Given the description of an element on the screen output the (x, y) to click on. 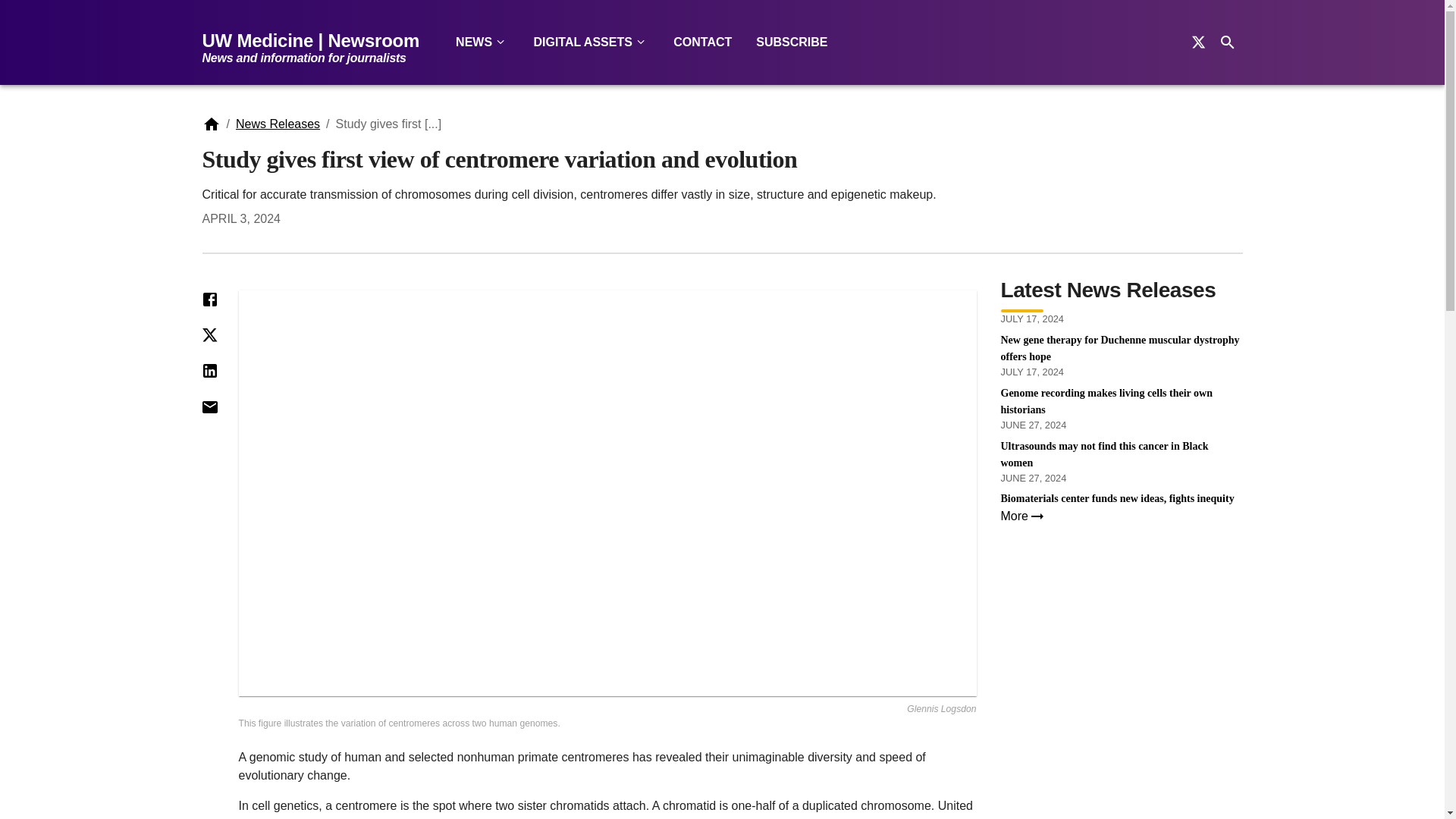
SUBSCRIBE (792, 42)
Ultrasounds may not find this cancer in Black women (1122, 454)
CONTACT (702, 42)
News Releases (277, 123)
Go to start page (316, 48)
More (1122, 515)
DIGITAL ASSETS (591, 42)
New gene therapy for Duchenne muscular dystrophy offers hope (1122, 348)
Genome recording makes living cells their own historians (1122, 401)
Biomaterials center funds new ideas, fights inequity (1122, 498)
NEWS (482, 42)
